Given the description of an element on the screen output the (x, y) to click on. 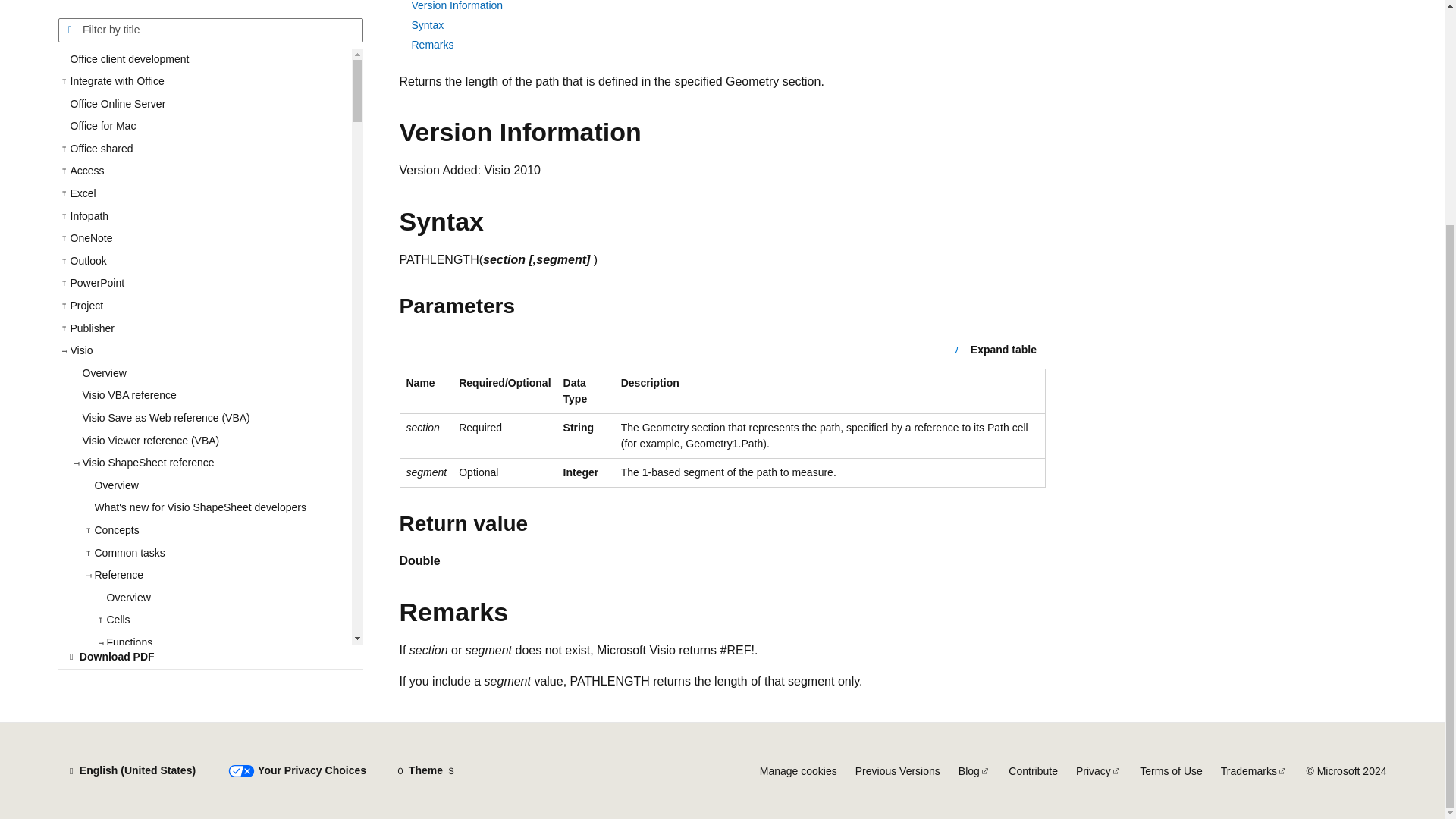
Theme (425, 770)
